Given the description of an element on the screen output the (x, y) to click on. 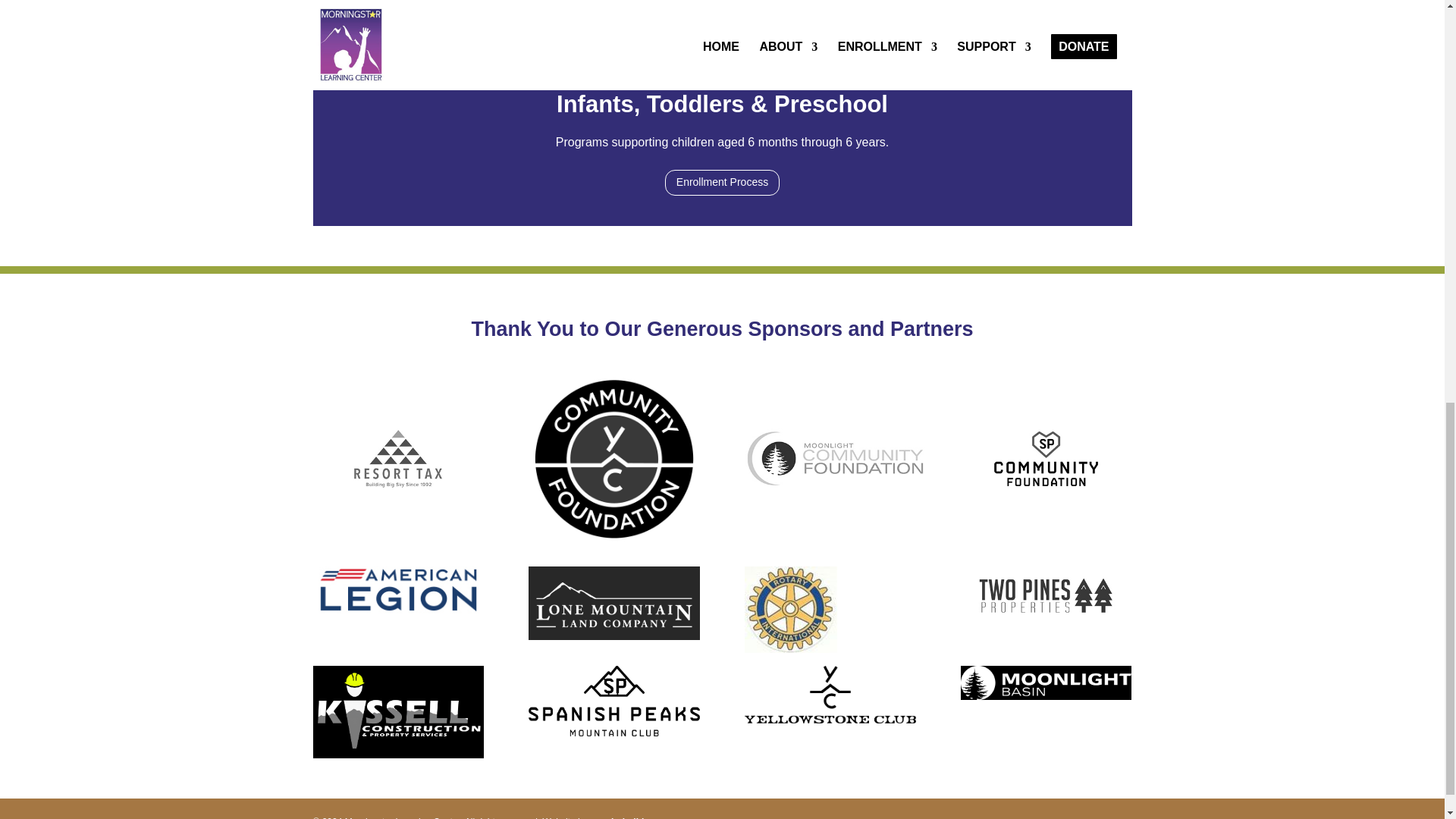
American Legion (398, 590)
Two Pines Properties (1045, 595)
Moonlight Community Foundation (834, 458)
rotary (790, 609)
Enrollment Process (721, 182)
Resort Tax (398, 458)
Spanish Peaks Community Foundation (1045, 458)
Kissell7.pdf (398, 712)
Spanish Peaks Black (613, 700)
lml (613, 602)
YC Black (829, 694)
